Given the description of an element on the screen output the (x, y) to click on. 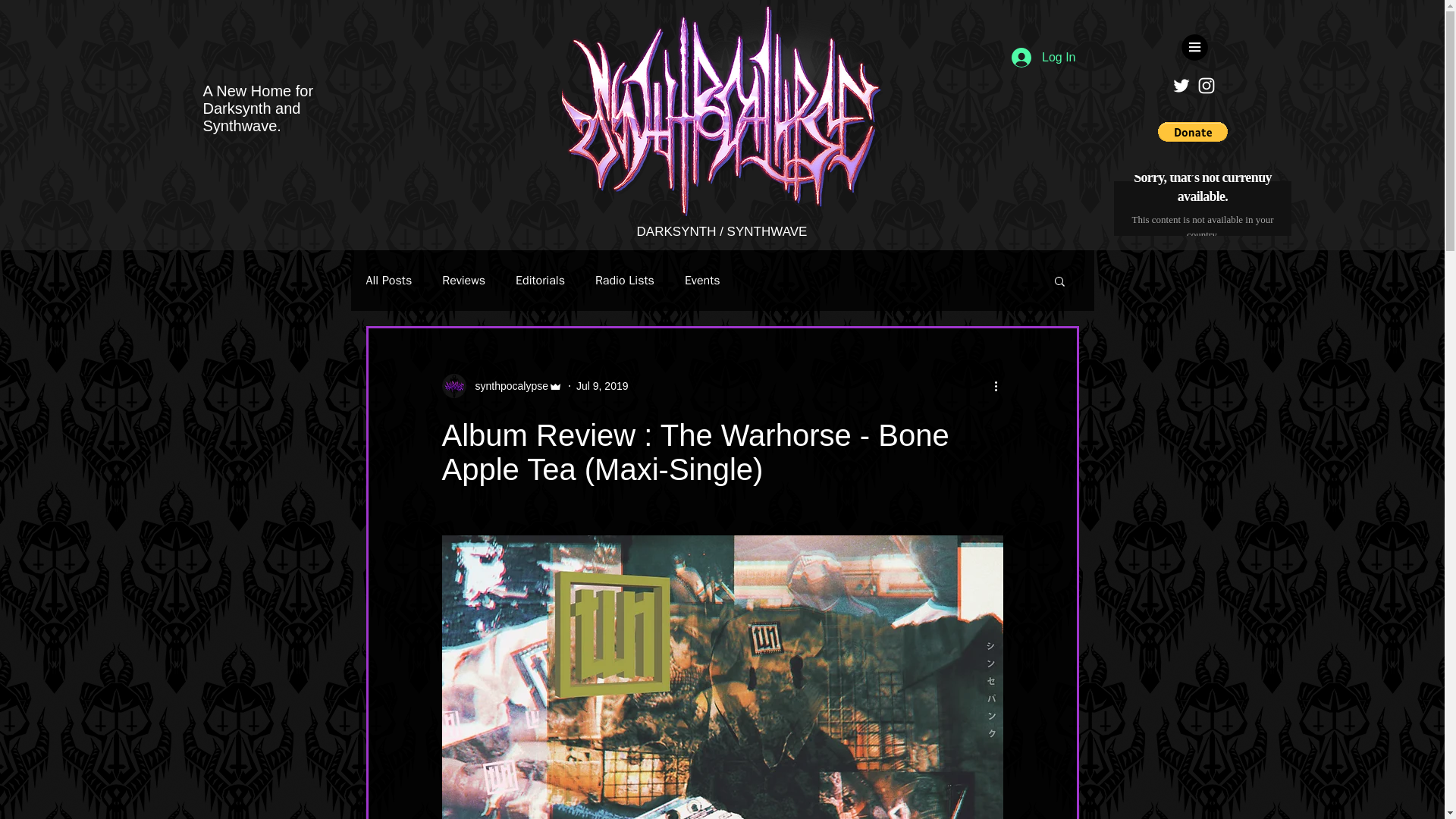
Jul 9, 2019 (602, 385)
Spotify Player (1201, 205)
All Posts (388, 280)
Radio Lists (624, 280)
synthpocalypse (506, 385)
Log In (1043, 57)
Spotify Player (1201, 206)
Reviews (463, 280)
Events (702, 280)
synthpocalypse (501, 385)
Editorials (539, 280)
